Given the description of an element on the screen output the (x, y) to click on. 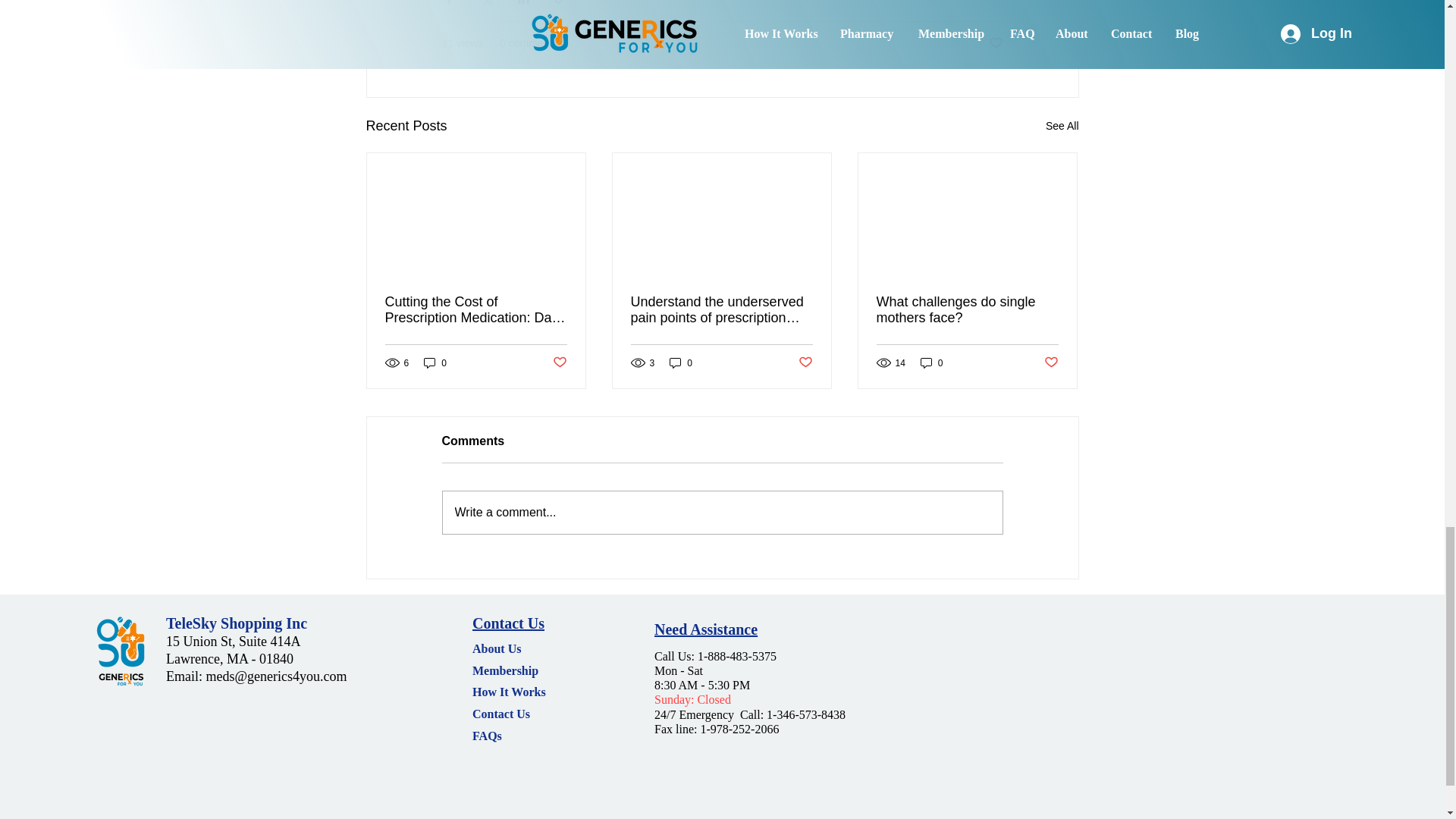
How It Works (508, 691)
Post not marked as liked (558, 362)
See All (1061, 126)
Write a comment... (722, 512)
Contact Us (507, 623)
0 (435, 362)
What challenges do single mothers face? (967, 309)
150x150.png (120, 651)
About Us (496, 648)
Post not marked as liked (995, 43)
Post not marked as liked (1050, 362)
FAQs (486, 735)
Post not marked as liked (804, 362)
